Given the description of an element on the screen output the (x, y) to click on. 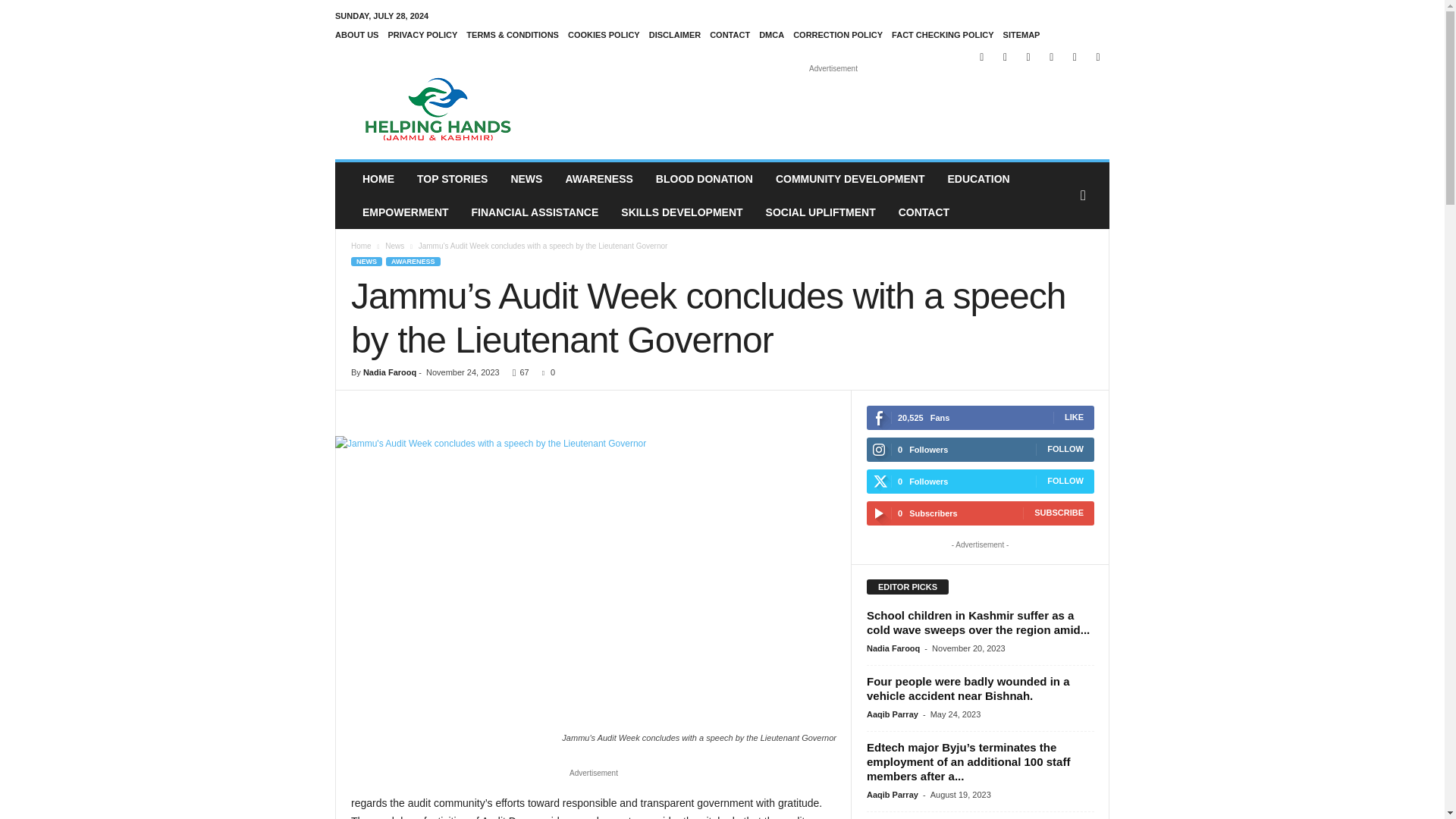
DMCA (771, 34)
TOP STORIES (452, 178)
Helping Hands (437, 109)
PRIVACY POLICY (422, 34)
CONTACT (729, 34)
Website (1074, 56)
HOME (378, 178)
COOKIES POLICY (603, 34)
ABOUT US (356, 34)
Twitter (1051, 56)
NEWS (526, 178)
